Given the description of an element on the screen output the (x, y) to click on. 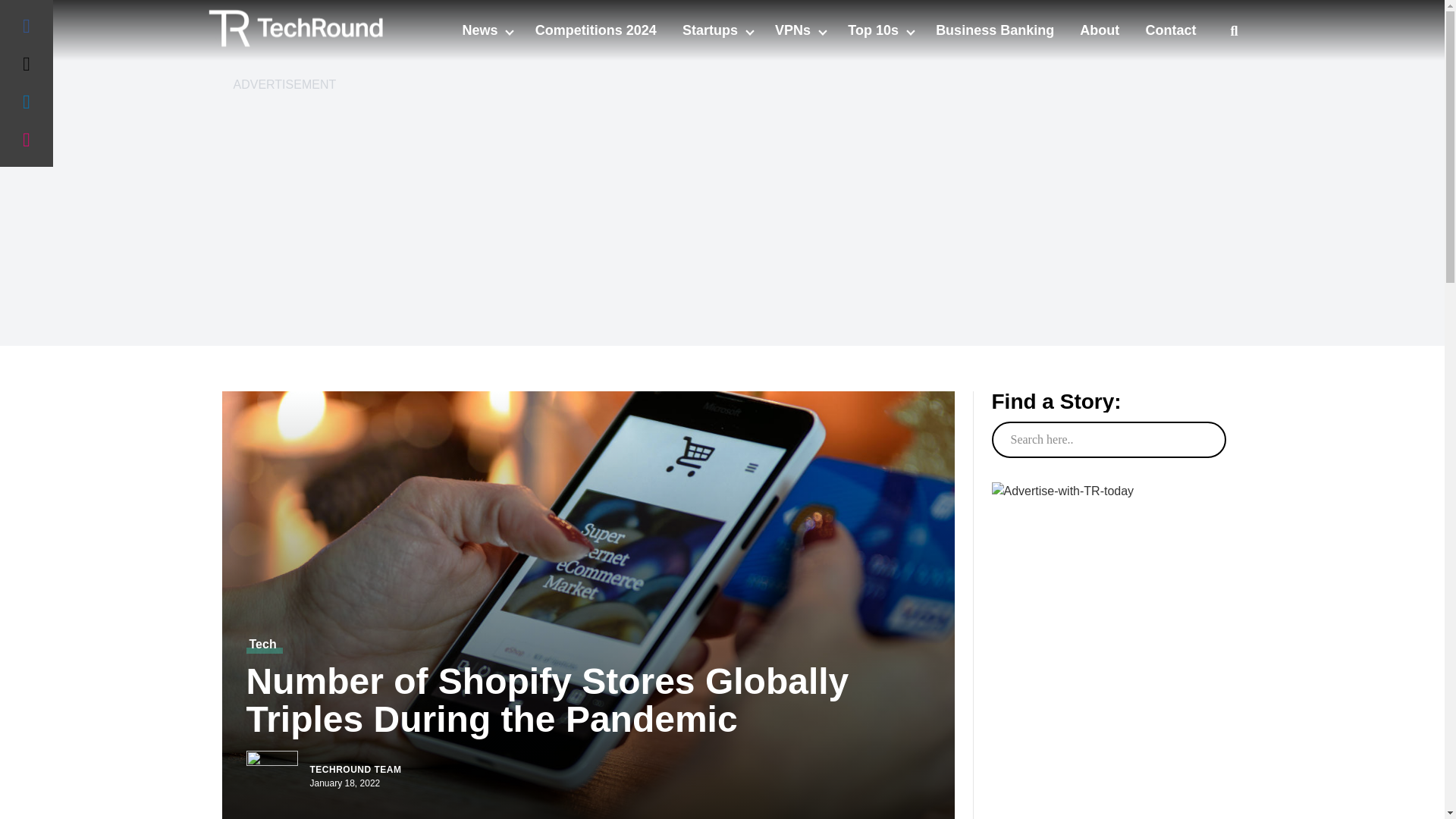
Top 10s (874, 30)
News (480, 30)
Advertisement (1107, 777)
Startups (711, 30)
Competitions 2024 (596, 30)
VPNs (793, 30)
